Given the description of an element on the screen output the (x, y) to click on. 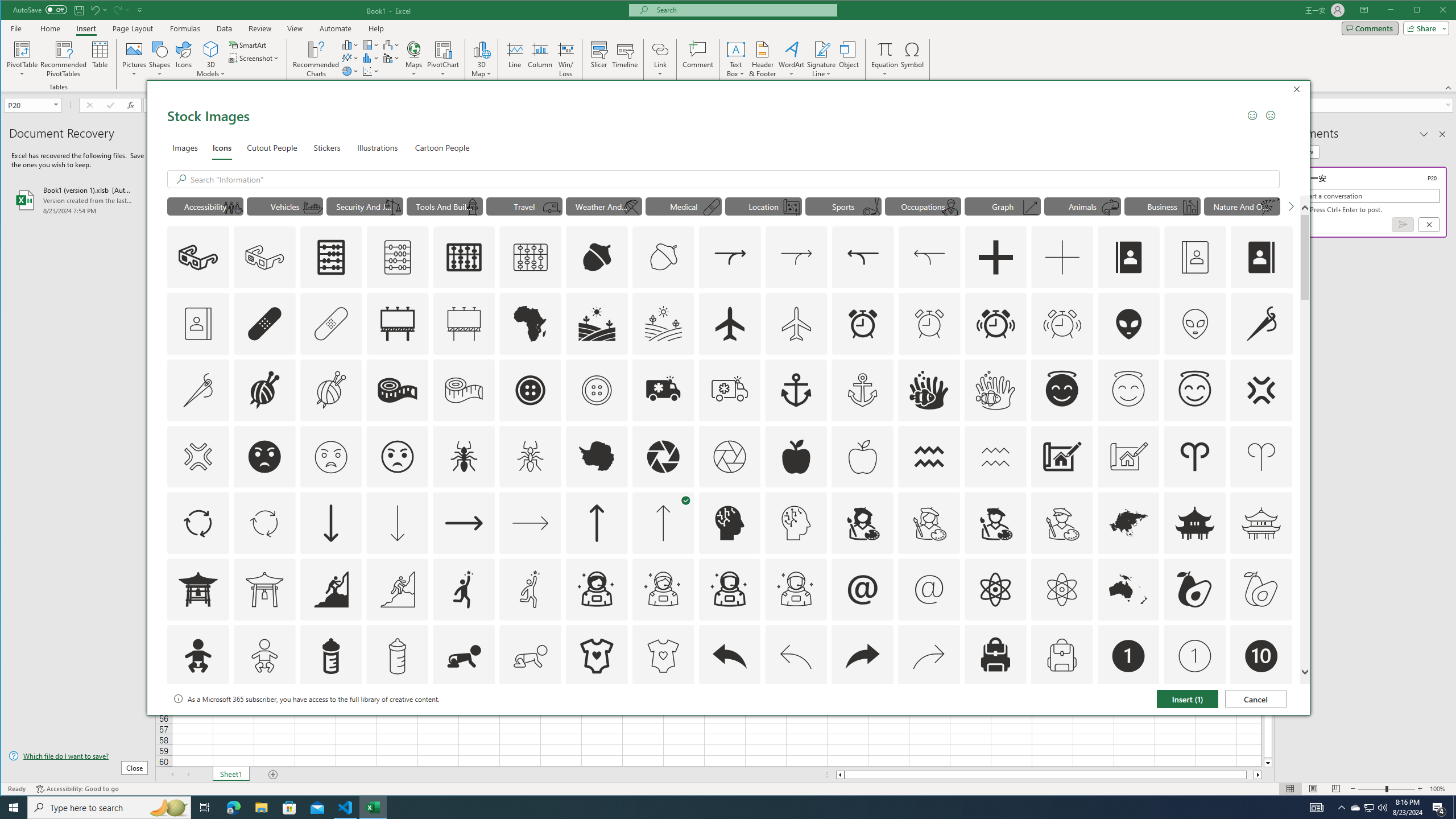
AutomationID: Icons_AlterationsTailoring2 (397, 389)
AutomationID: Icons_Badge3 (397, 721)
AutomationID: Icons_ArrowRight_M (530, 522)
Insert Waterfall, Funnel, Stock, Surface, or Radar Chart (391, 44)
AutomationID: Icons_BabyOnesie (596, 655)
Insert (1) (1187, 698)
Insert Column or Bar Chart (350, 44)
